Given the description of an element on the screen output the (x, y) to click on. 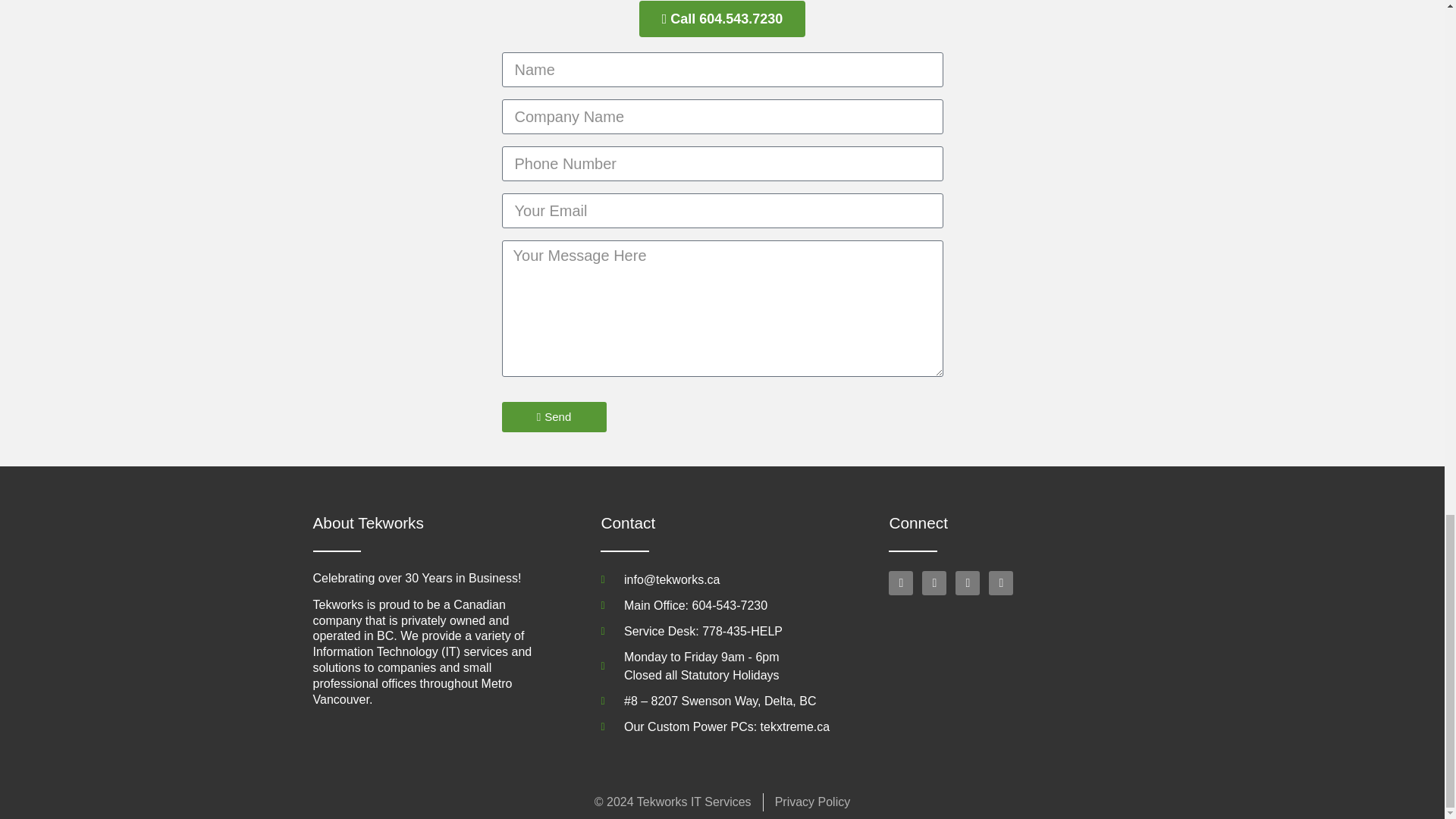
Send (554, 417)
Main Office: 604-543-7230 (721, 606)
Our Custom Power PCs: tekxtreme.ca (721, 727)
Call 604.543.7230 (722, 18)
Service Desk: 778-435-HELP (721, 666)
